Given the description of an element on the screen output the (x, y) to click on. 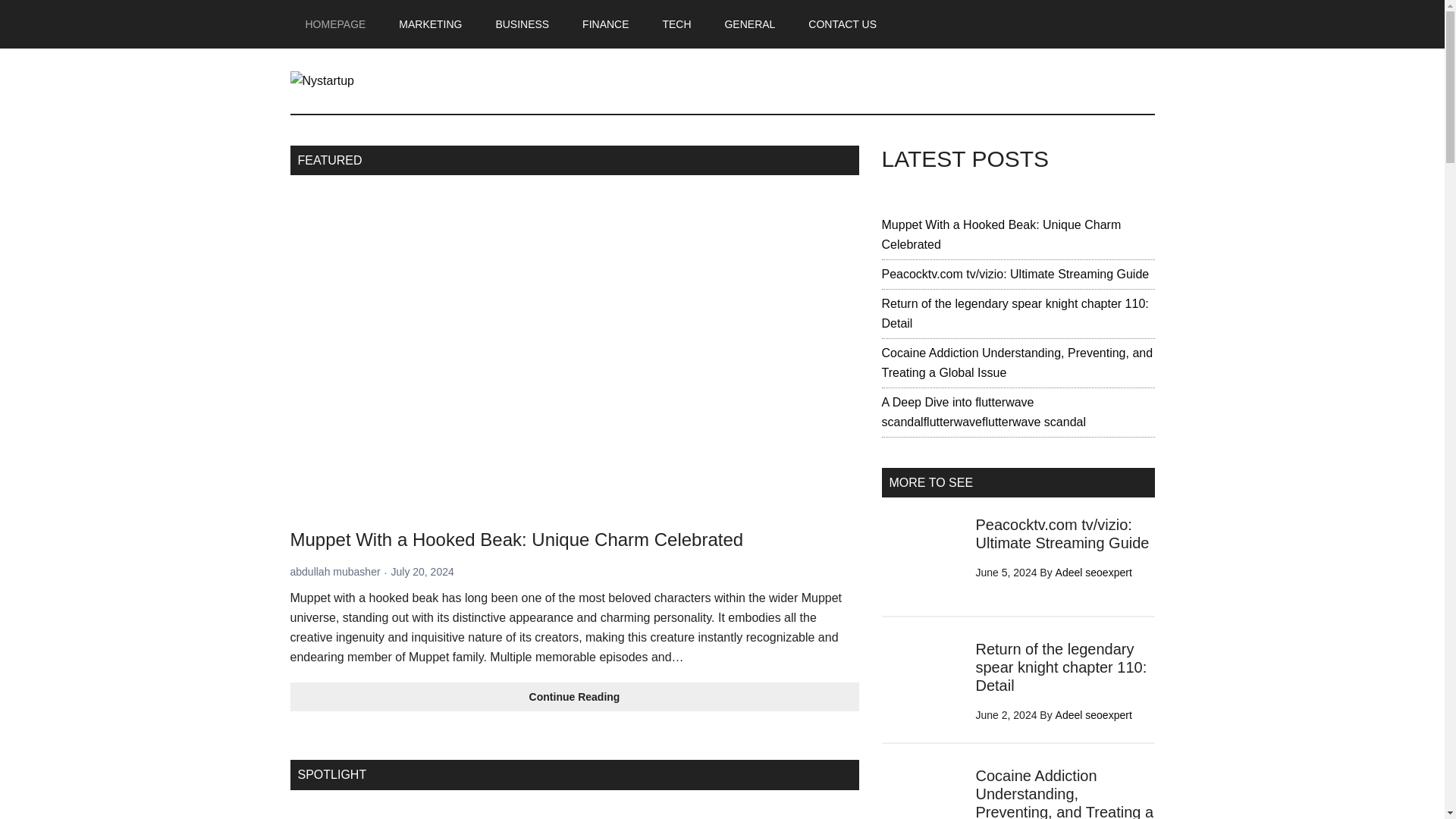
FINANCE (605, 24)
GENERAL (749, 24)
Muppet With a Hooked Beak: Unique Charm Celebrated (515, 539)
CONTACT US (842, 24)
Homepage 2 (425, 813)
BUSINESS (522, 24)
abdullah mubasher (334, 571)
MARKETING (430, 24)
Homepage 3 (722, 813)
HOMEPAGE (334, 24)
TECH (676, 24)
